Given the description of an element on the screen output the (x, y) to click on. 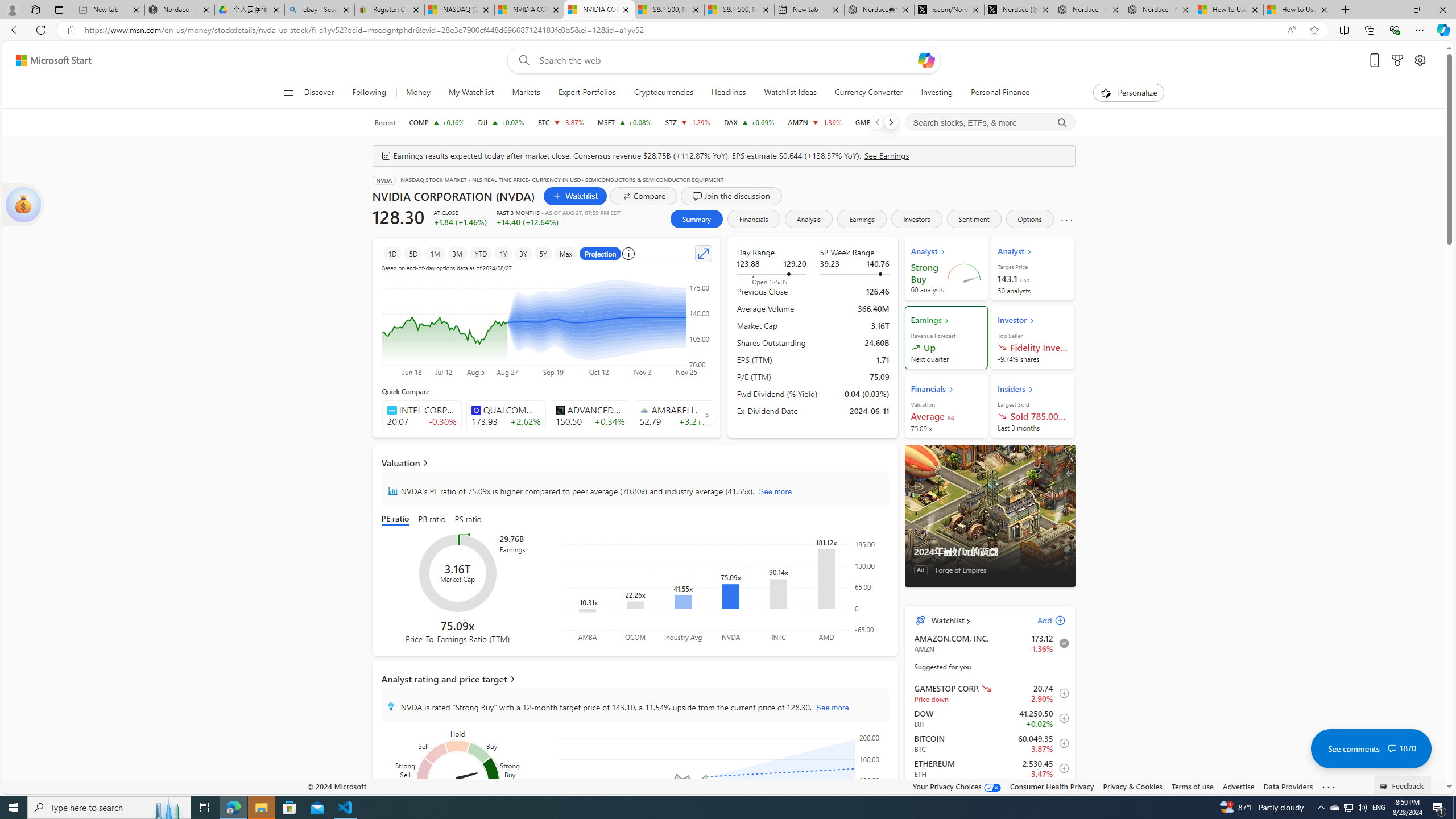
Following (370, 92)
Terms of use (1192, 786)
To get missing image descriptions, open the context menu. (1105, 92)
1Y (502, 253)
COMP NASDAQ increase 17,754.82 +29.06 +0.16% (436, 122)
Terms of use (1192, 785)
1D (391, 253)
Markets (525, 92)
Headlines (727, 92)
Currency Converter (868, 92)
Money (417, 92)
